Given the description of an element on the screen output the (x, y) to click on. 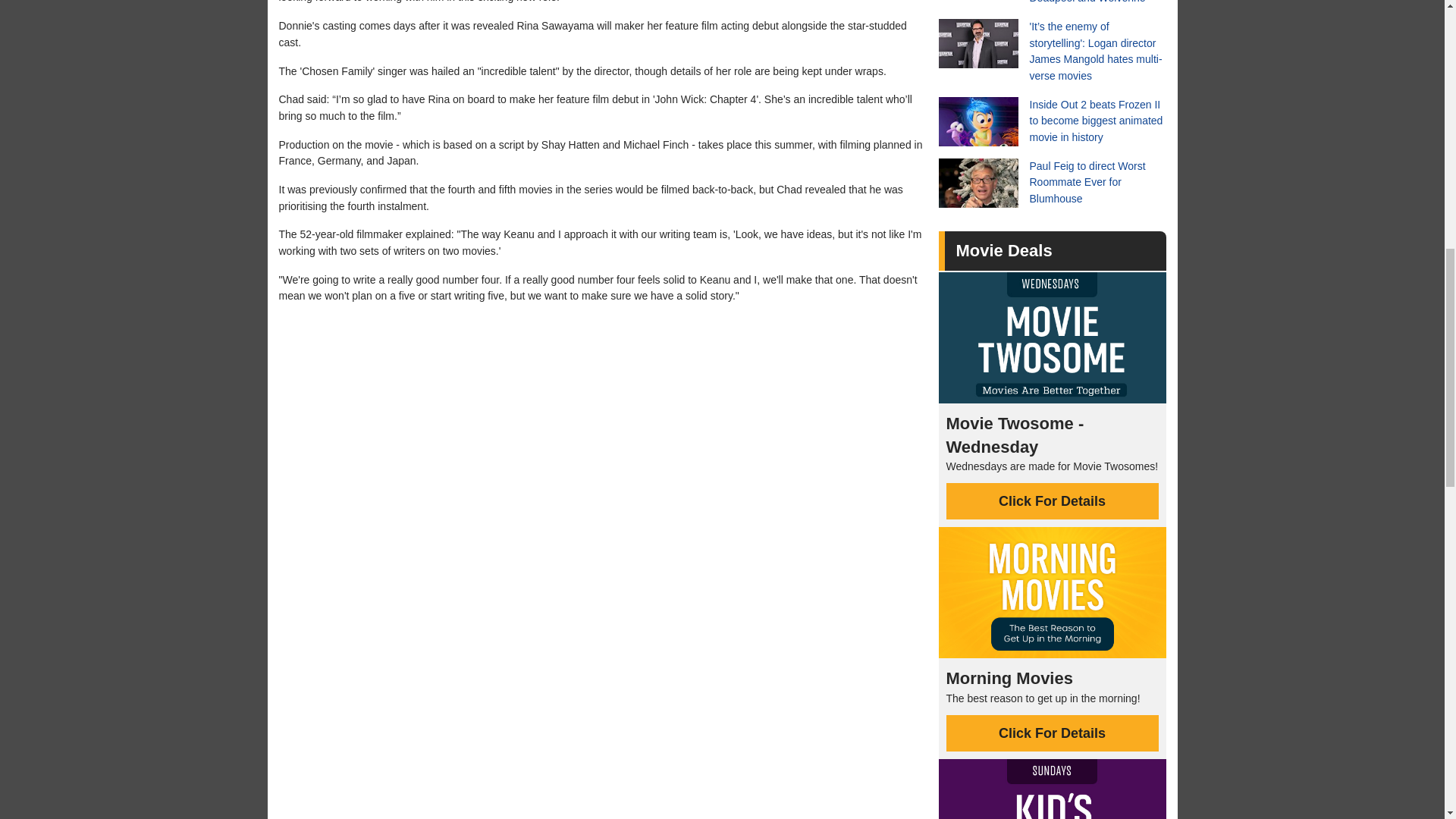
Movie Deals (1003, 250)
Click For Details (1052, 732)
Click For Details (1052, 501)
Paul Feig to direct Worst Roommate Ever for Blumhouse (1052, 183)
